Given the description of an element on the screen output the (x, y) to click on. 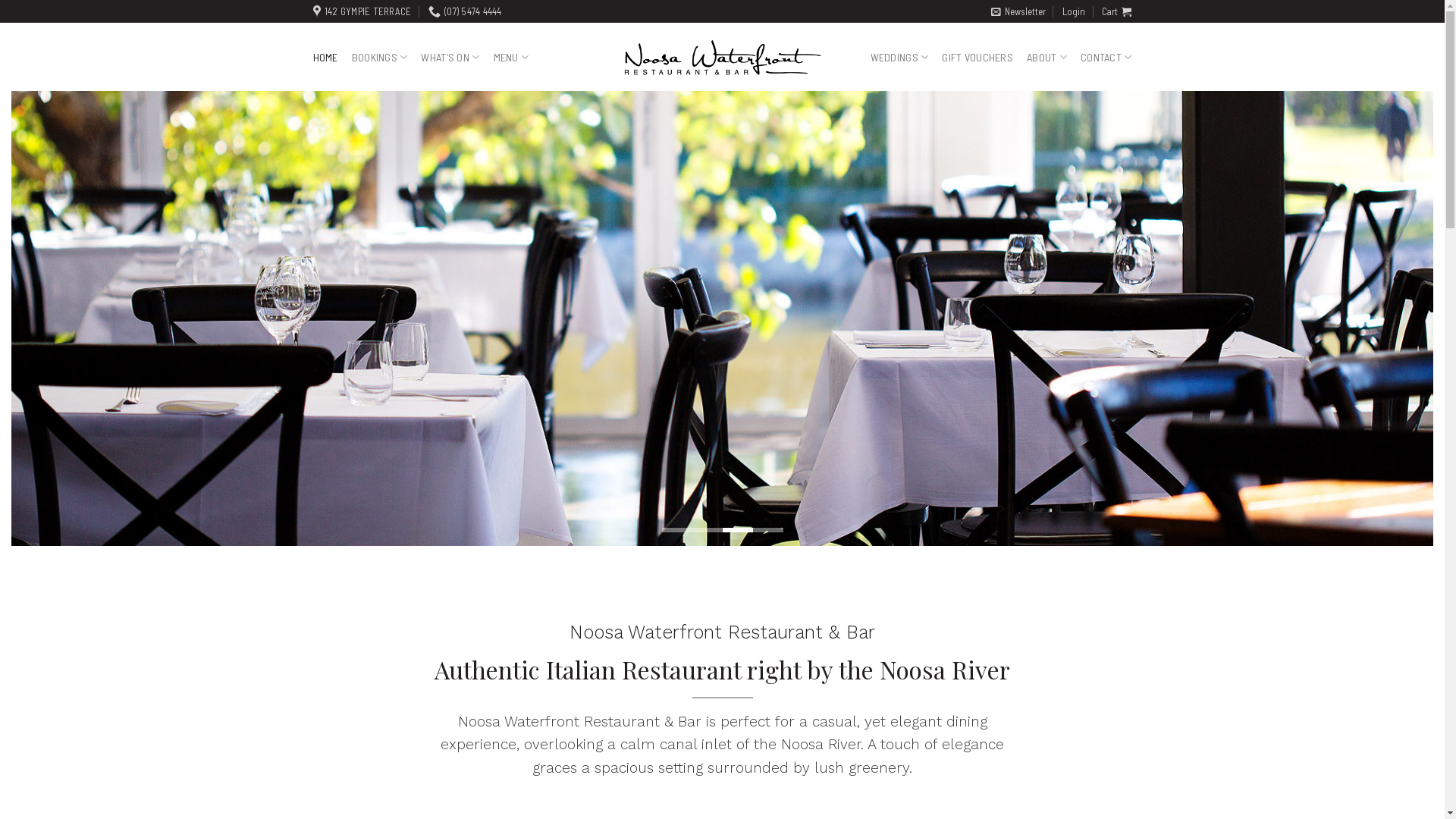
ABOUT Element type: text (1046, 57)
WEDDINGS Element type: text (899, 57)
MENU Element type: text (511, 57)
142 GYMPIE TERRACE Element type: text (361, 11)
CONTACT Element type: text (1106, 57)
Noosa Waterfront Restaurant & Bar Element type: hover (722, 57)
BOOKINGS Element type: text (379, 57)
(07) 5474 4444 Element type: text (465, 11)
Login Element type: text (1073, 11)
HOME Element type: text (324, 57)
GIFT VOUCHERS Element type: text (977, 57)
Cart Element type: text (1116, 11)
Newsletter Element type: text (1018, 11)
